Given the description of an element on the screen output the (x, y) to click on. 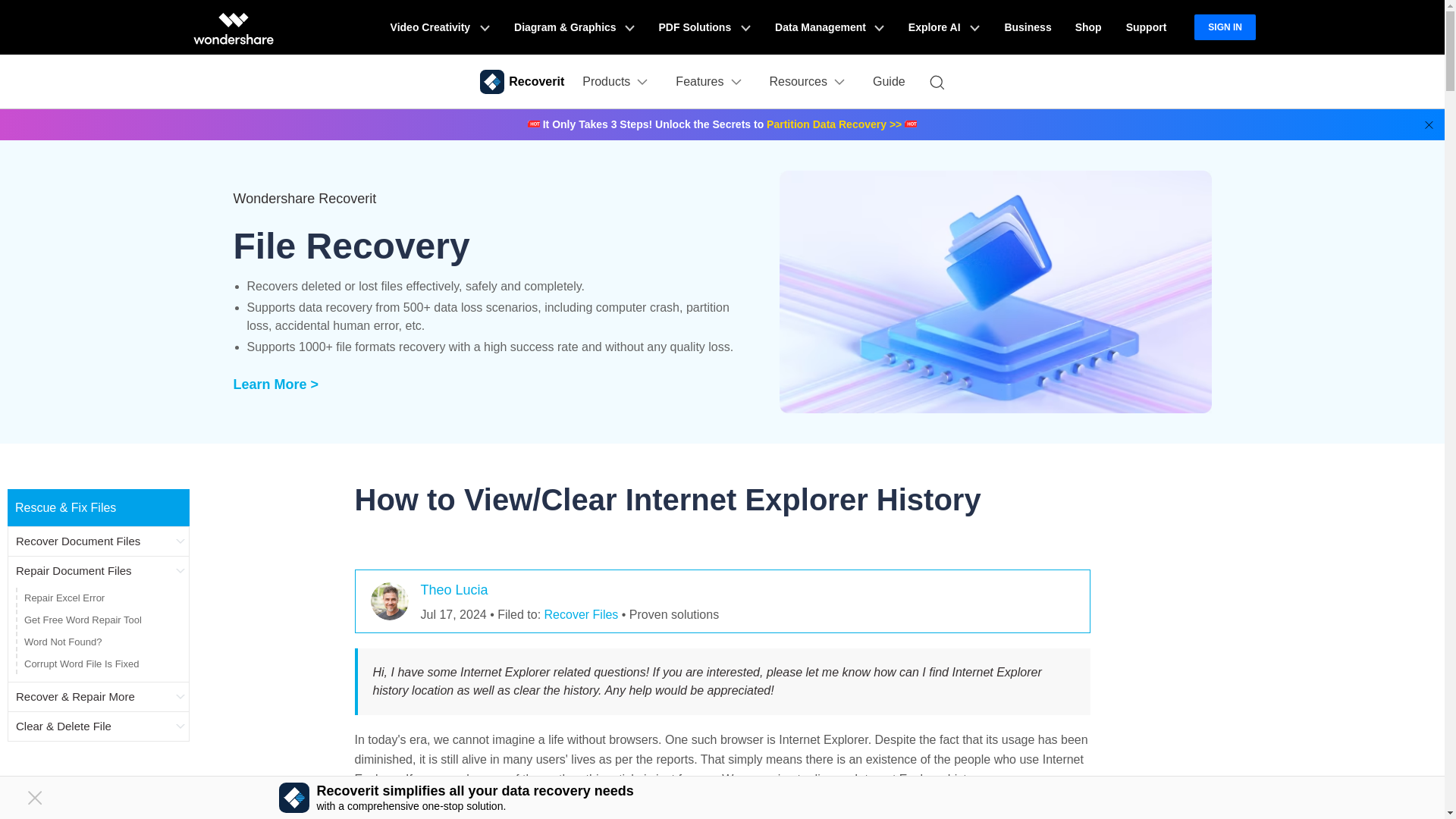
Data Management (829, 27)
Explore AI (943, 27)
Video Creativity (439, 27)
PDF Solutions (704, 27)
